Given the description of an element on the screen output the (x, y) to click on. 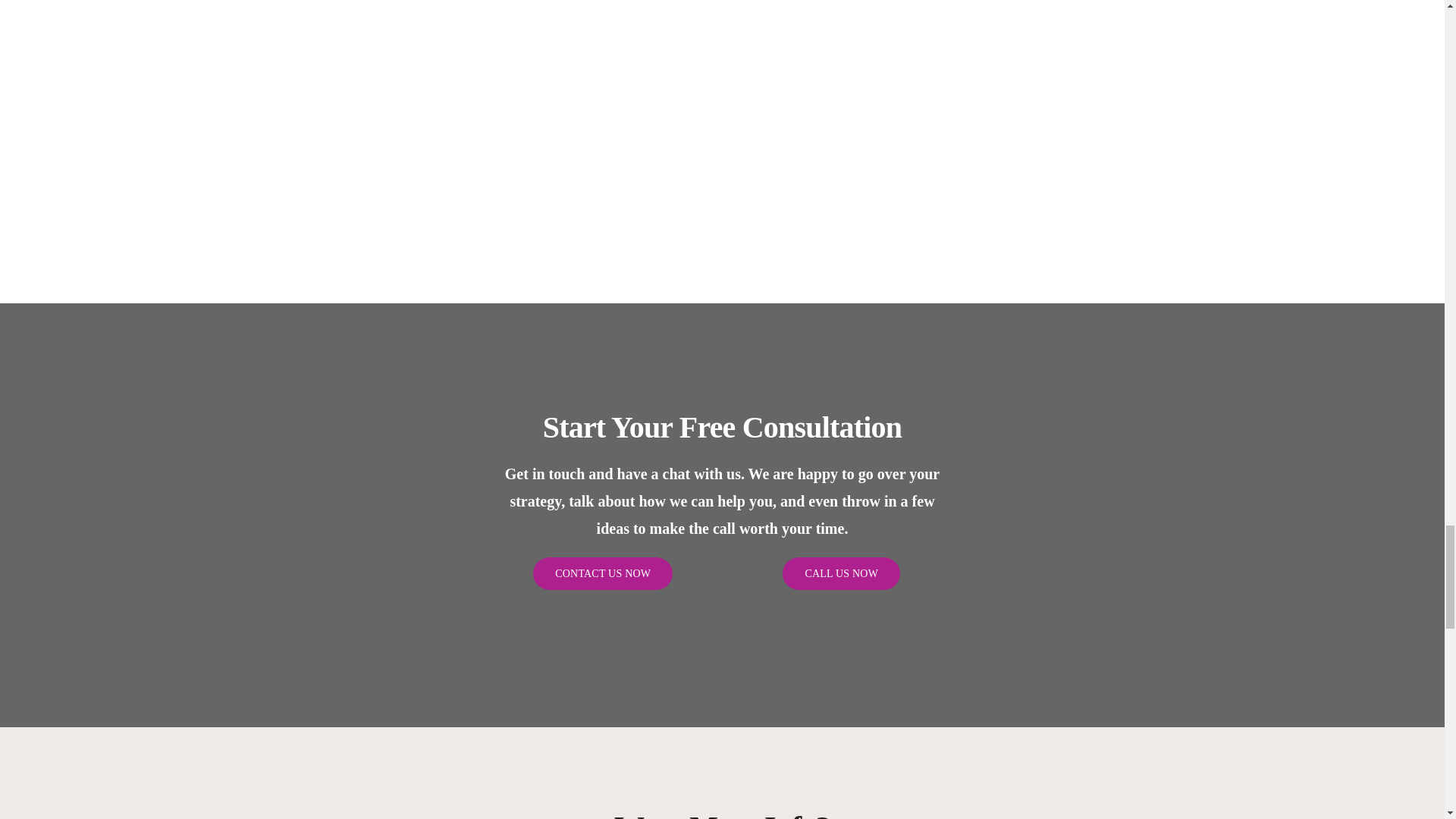
CALL US NOW (841, 573)
CONTACT US NOW (602, 573)
